Given the description of an element on the screen output the (x, y) to click on. 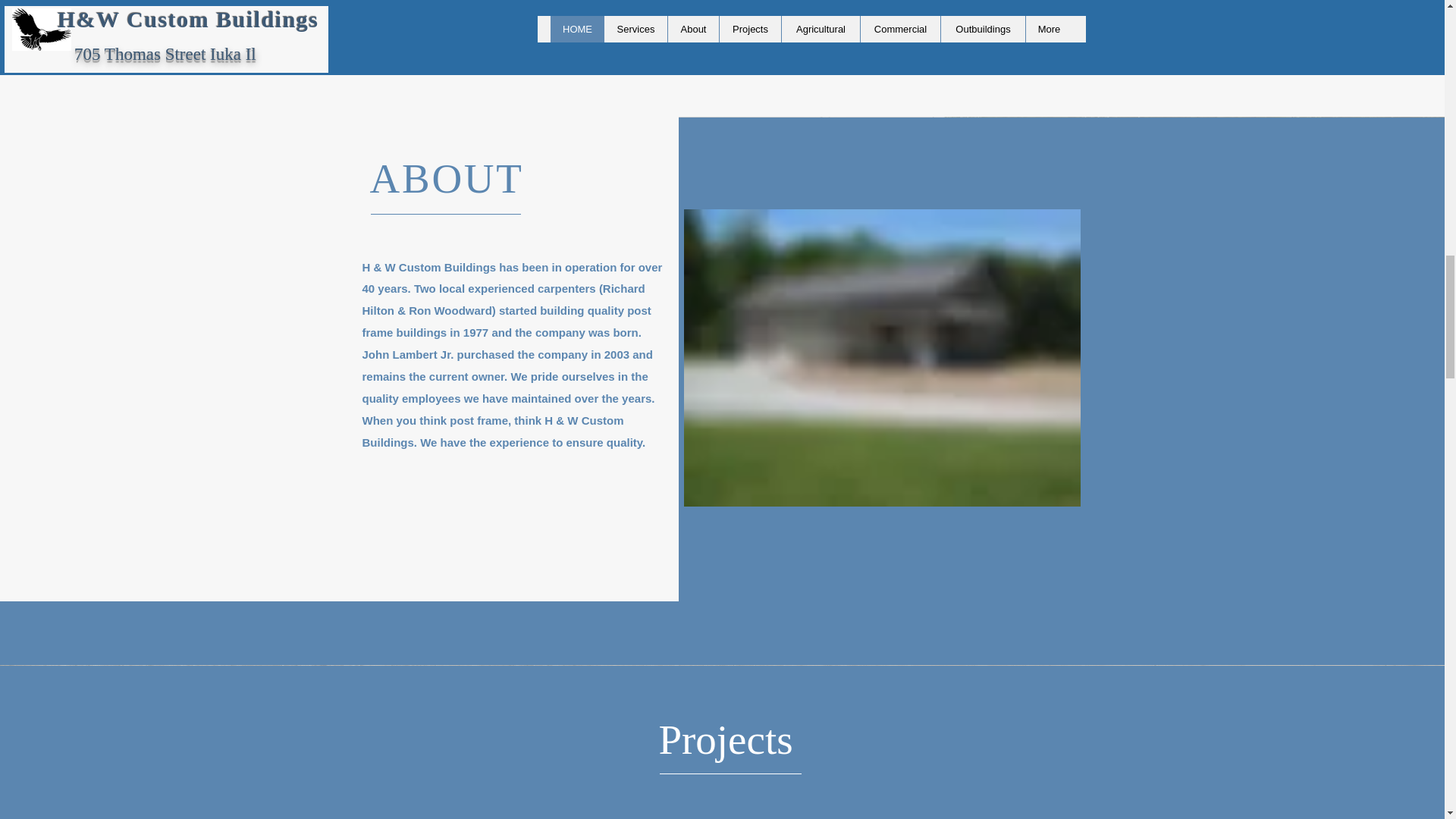
www.newcenturybankna.com (935, 2)
